Given the description of an element on the screen output the (x, y) to click on. 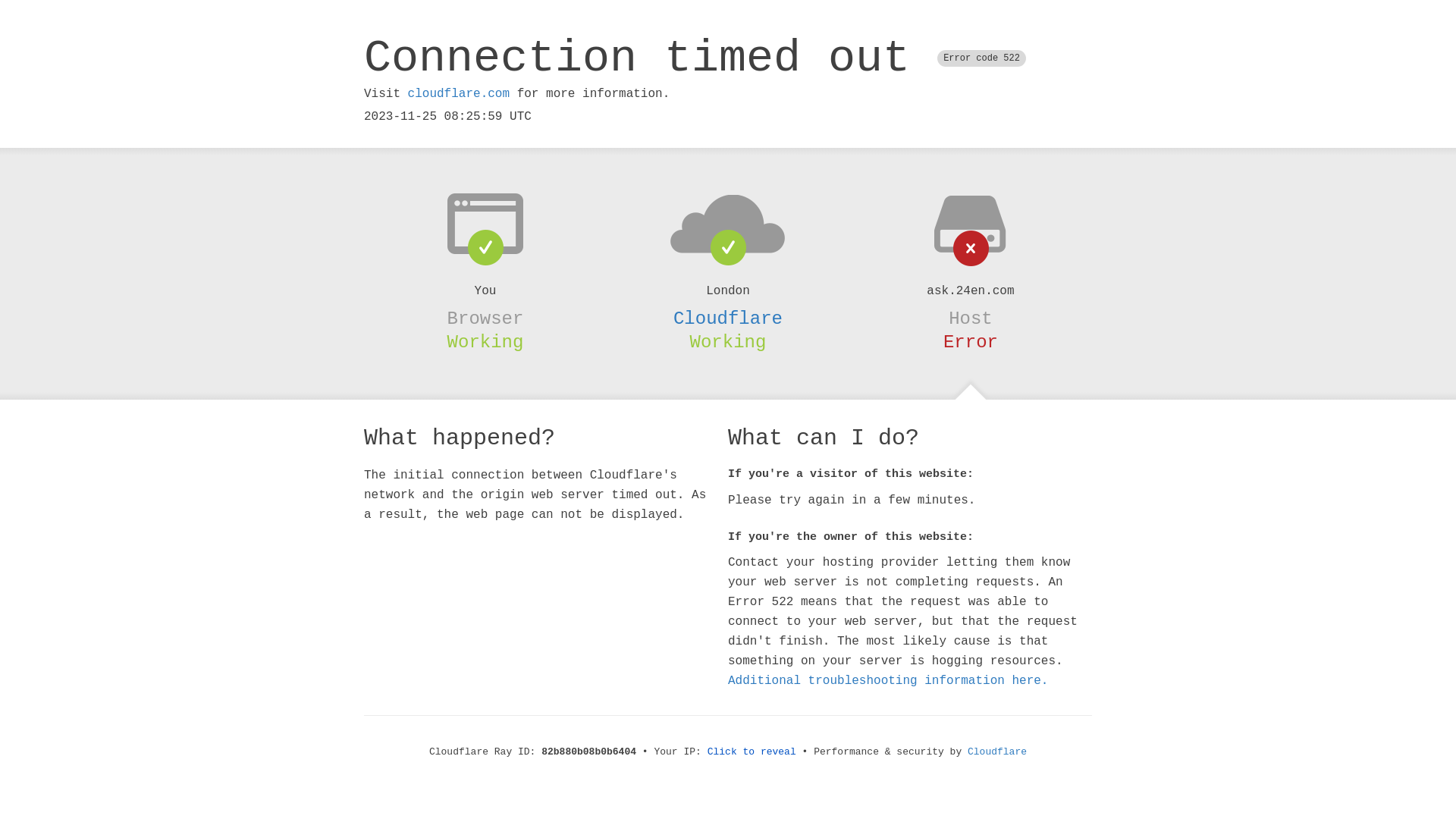
Cloudflare Element type: text (727, 318)
cloudflare.com Element type: text (458, 93)
Click to reveal Element type: text (751, 751)
Additional troubleshooting information here. Element type: text (888, 680)
Cloudflare Element type: text (996, 751)
